Given the description of an element on the screen output the (x, y) to click on. 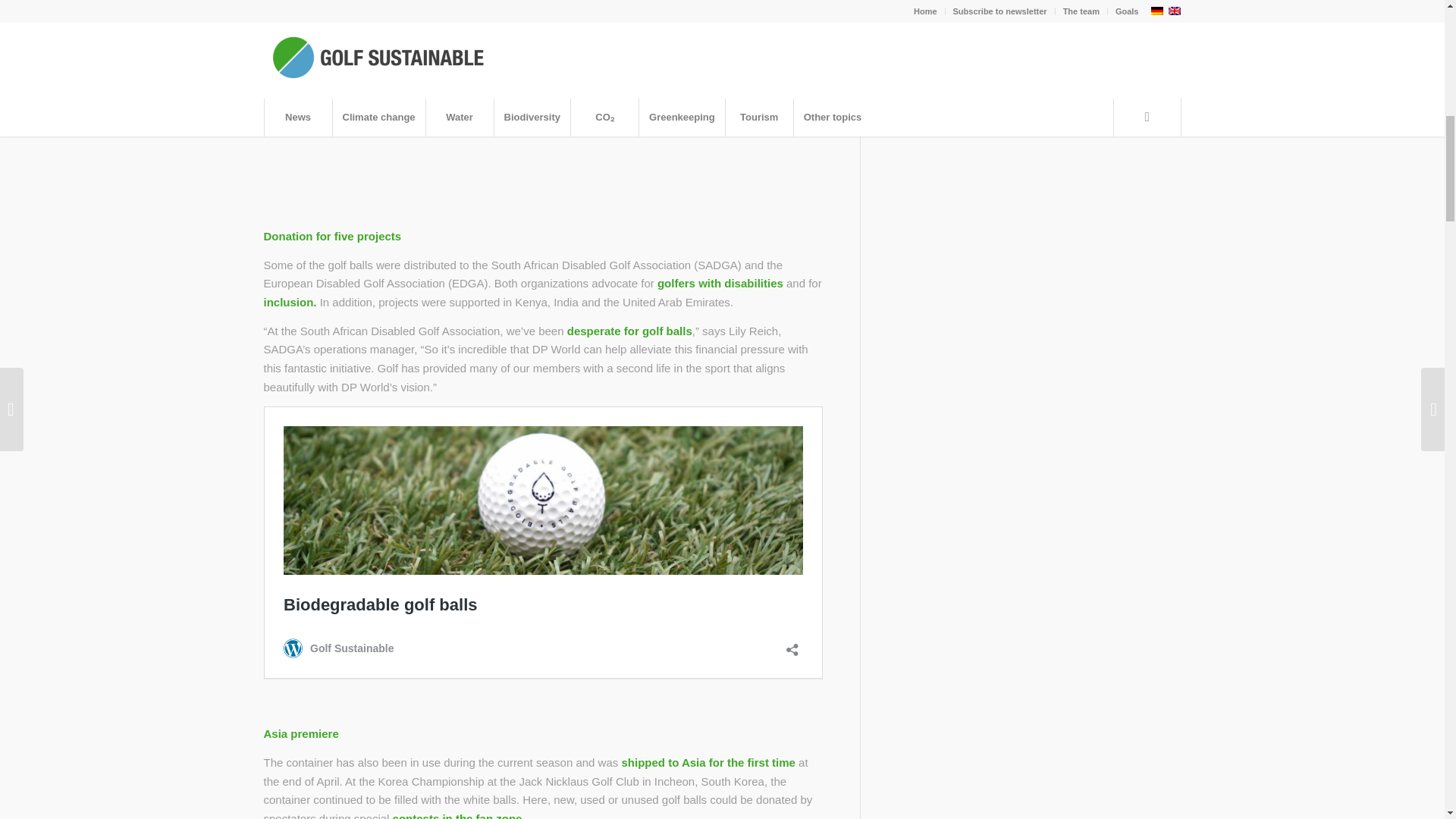
Container mit Golfball-Spenden reist um die Welt (542, 108)
